Given the description of an element on the screen output the (x, y) to click on. 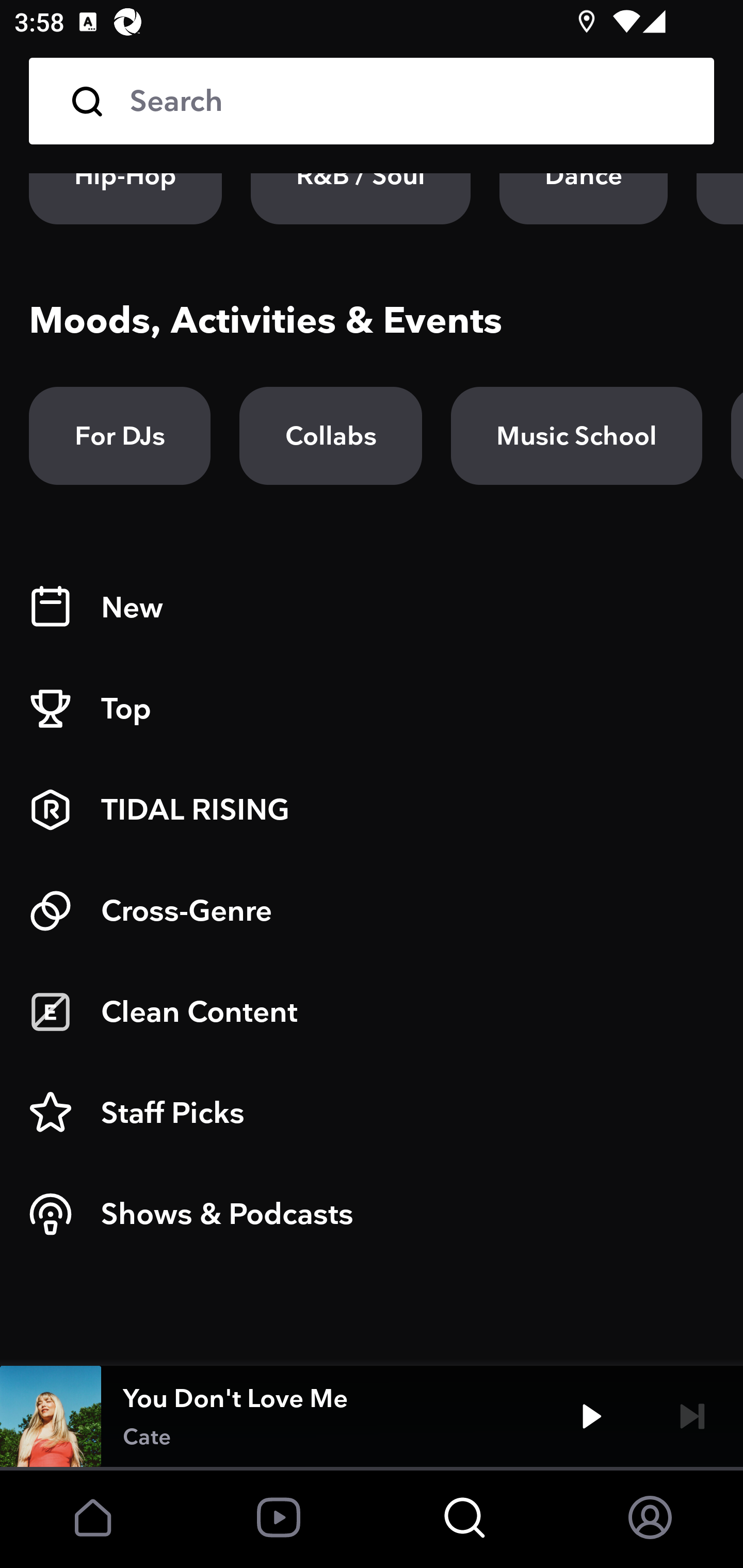
Search (371, 101)
Search (407, 100)
For DJs (119, 435)
Collabs (330, 435)
Music School (576, 435)
New (371, 607)
Top (371, 708)
TIDAL RISING (371, 809)
Cross-Genre (371, 910)
Clean Content (371, 1012)
Staff Picks (371, 1113)
Shows & Podcasts (371, 1214)
You Don't Love Me Cate Play (371, 1416)
Play (590, 1416)
